Given the description of an element on the screen output the (x, y) to click on. 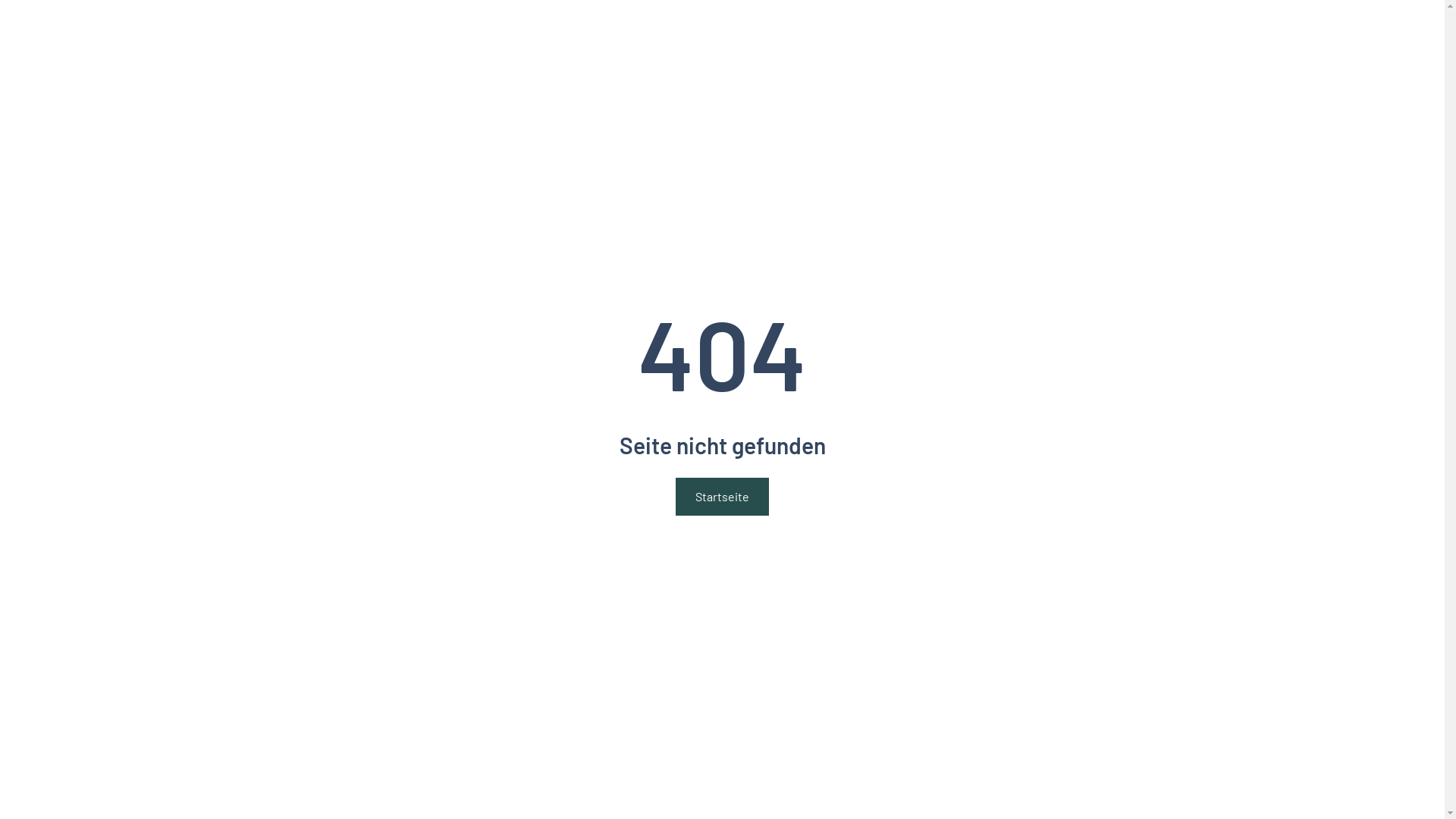
Startseite Element type: text (721, 496)
